Given the description of an element on the screen output the (x, y) to click on. 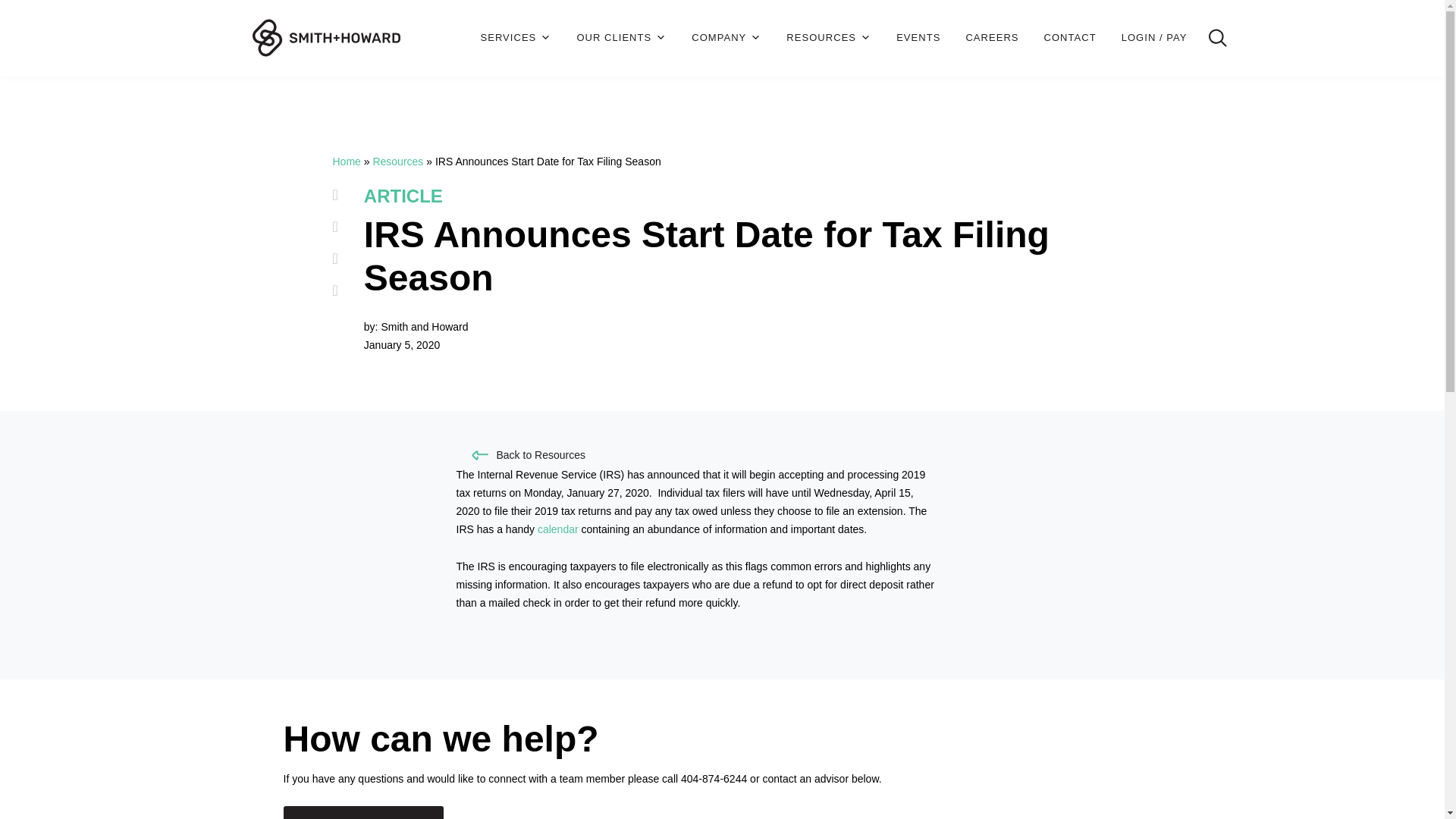
OUR CLIENTS (621, 38)
SERVICES (515, 38)
